Given the description of an element on the screen output the (x, y) to click on. 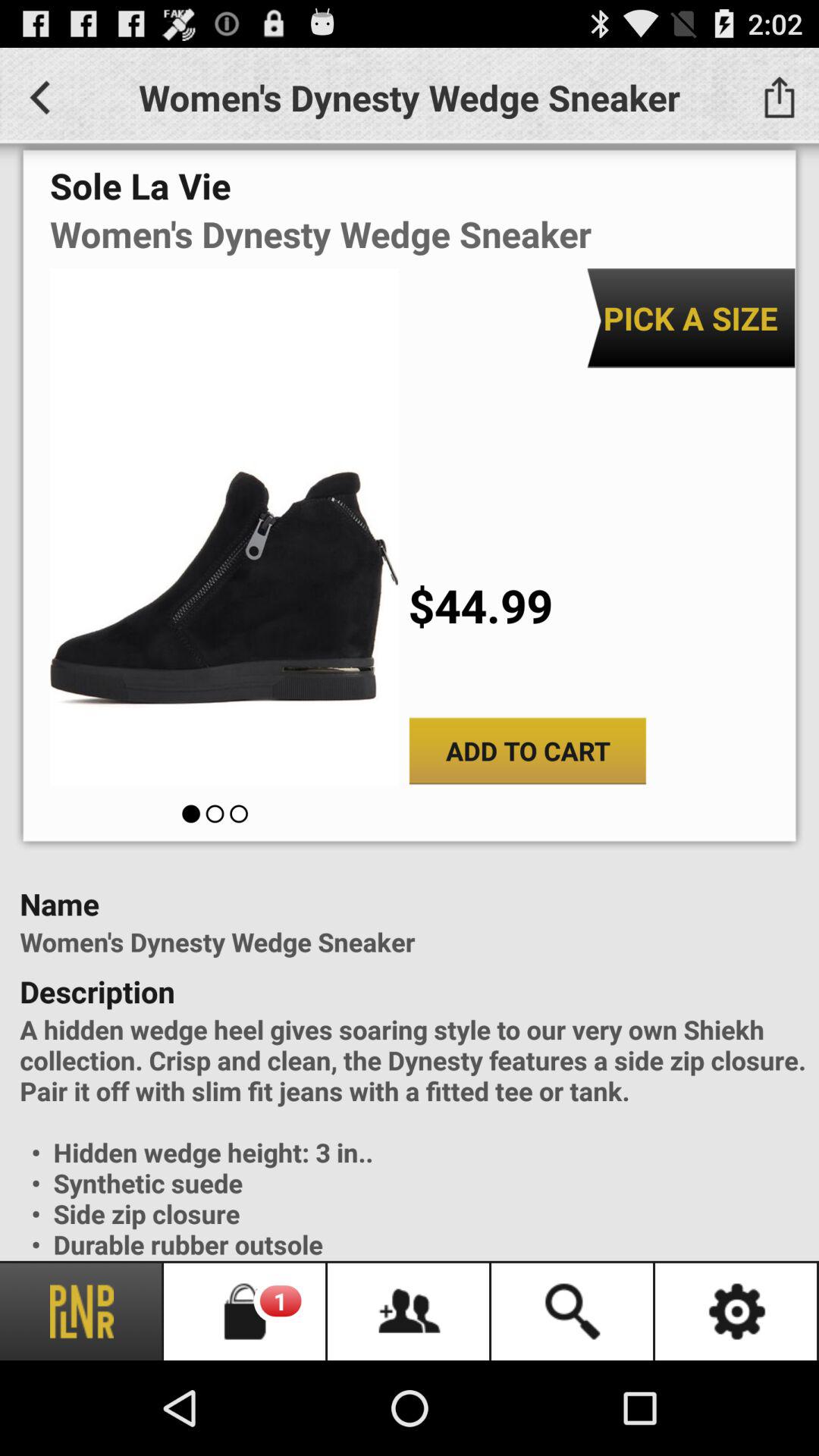
turn off the icon above name app (527, 751)
